Given the description of an element on the screen output the (x, y) to click on. 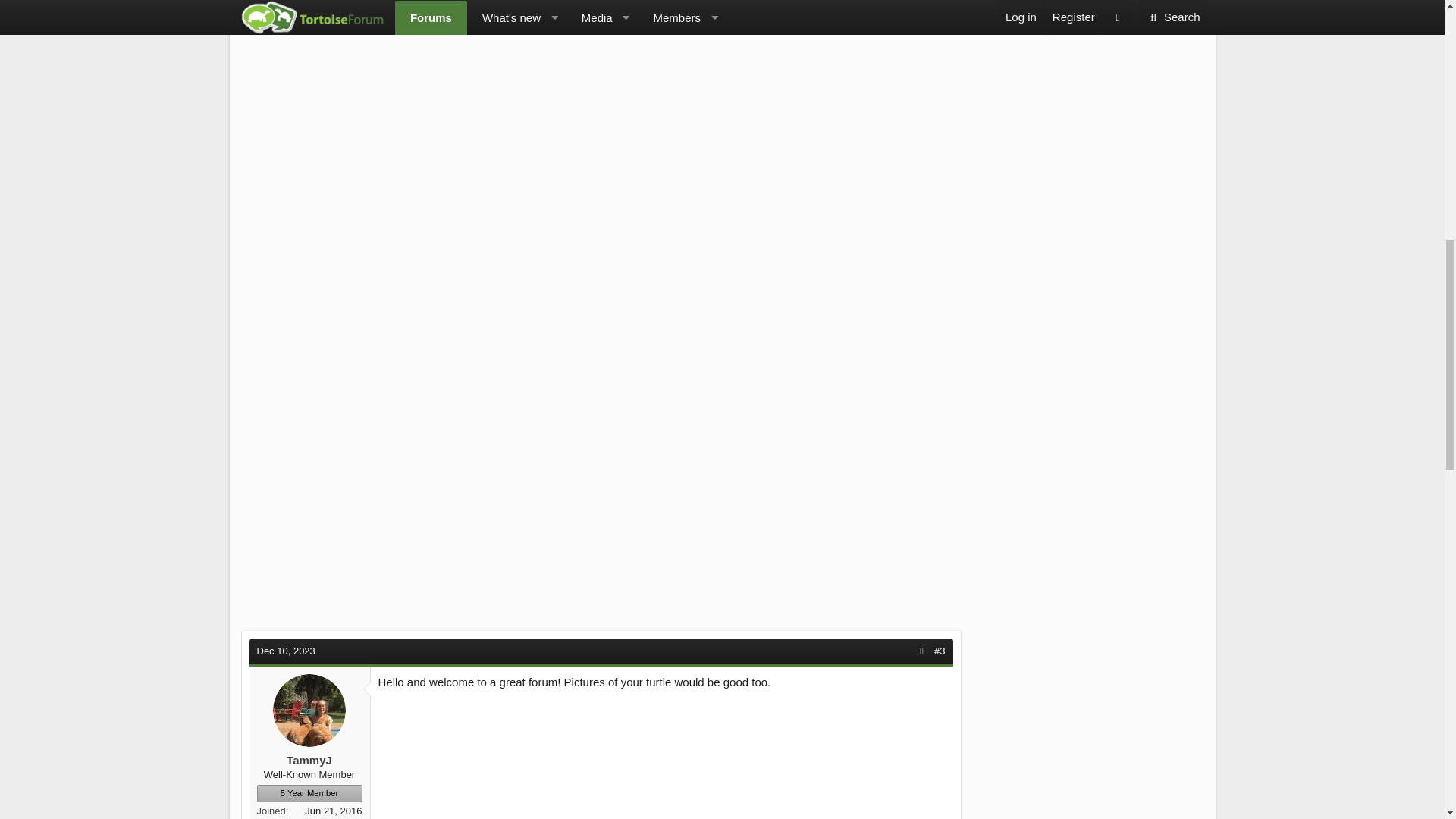
Dec 10, 2023 at 7:23 AM (285, 650)
